Given the description of an element on the screen output the (x, y) to click on. 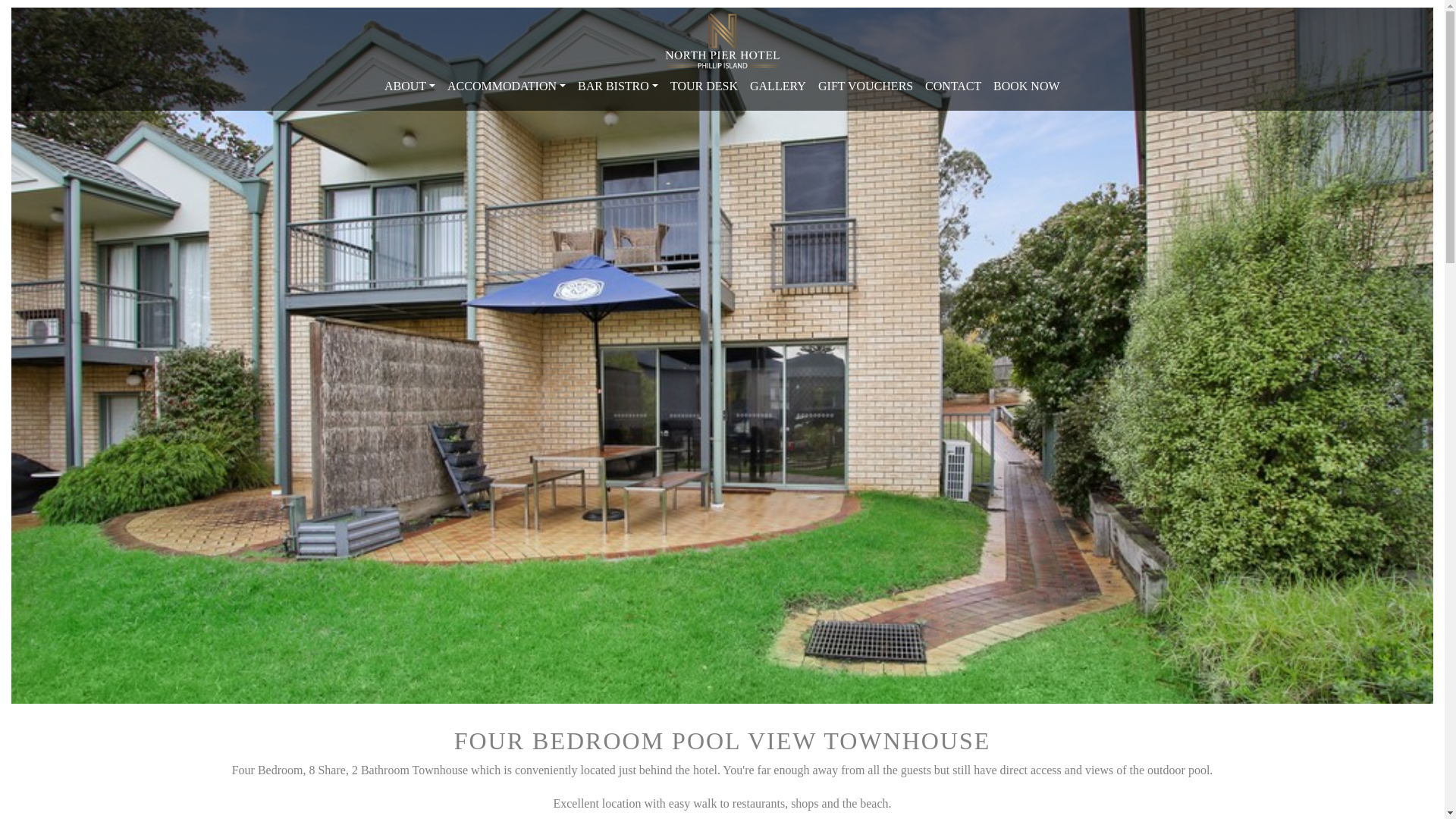
BOOK NOW Element type: text (1026, 86)
ACCOMMODATION Element type: text (506, 86)
ABOUT Element type: text (409, 86)
CONTACT Element type: text (953, 86)
GIFT VOUCHERS Element type: text (865, 86)
BAR BISTRO Element type: text (617, 86)
GALLERY Element type: text (777, 86)
TOUR DESK Element type: text (703, 86)
